Given the description of an element on the screen output the (x, y) to click on. 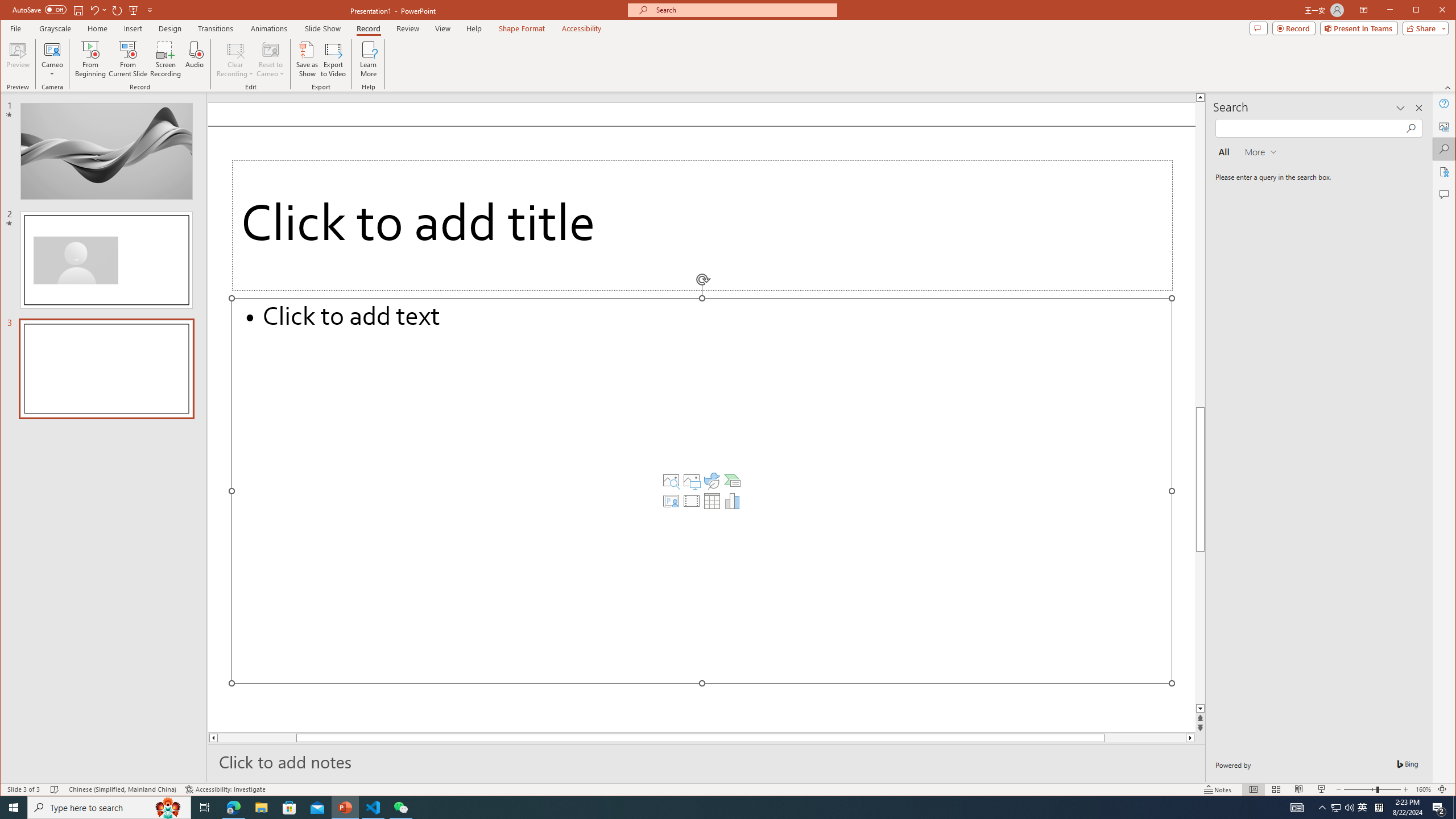
From Current Slide... (127, 59)
Pictures (691, 480)
Alt Text (1444, 125)
Zoom 160% (1422, 789)
Action Center, 2 new notifications (1439, 807)
